Given the description of an element on the screen output the (x, y) to click on. 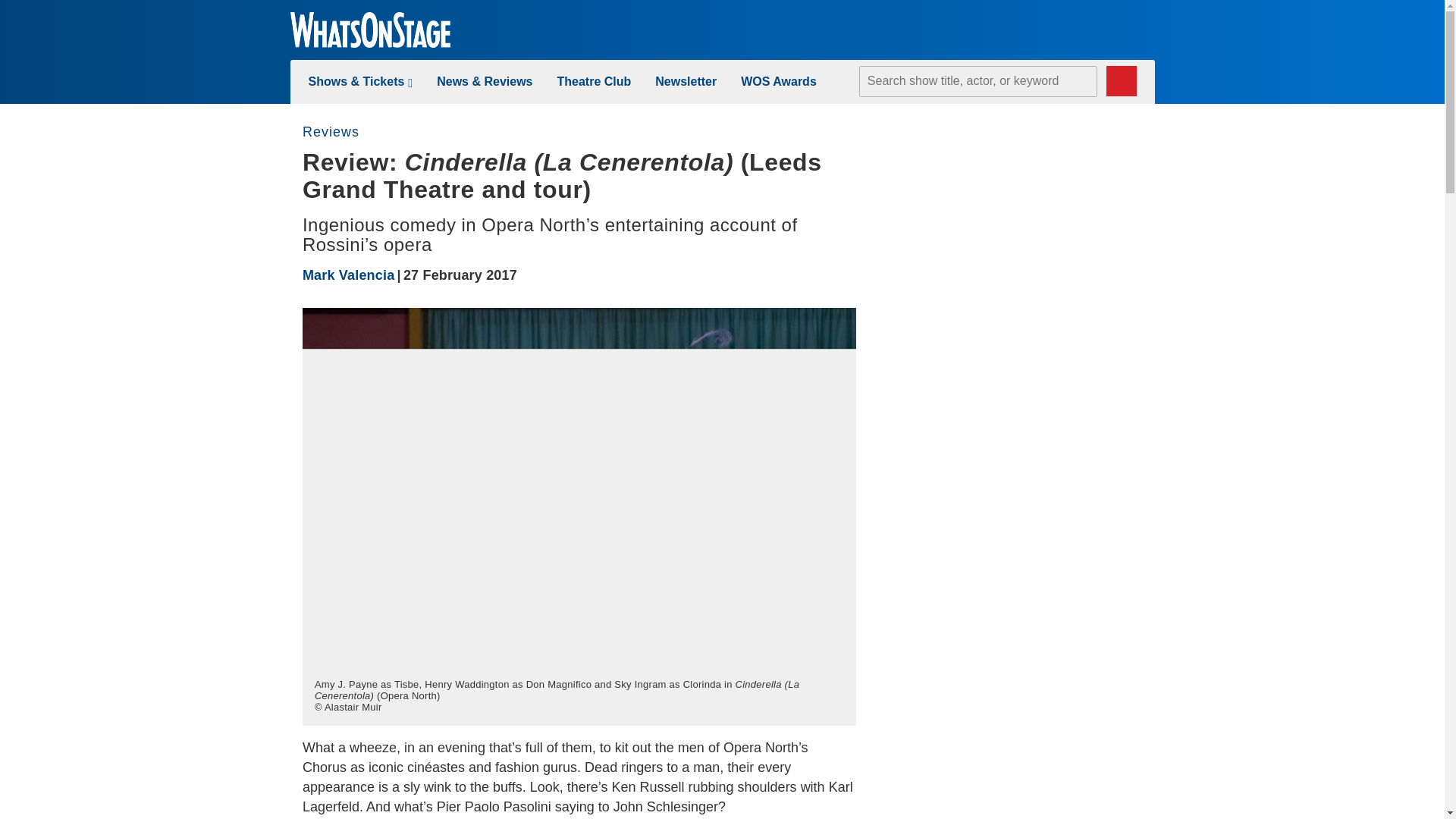
Newsletter (685, 81)
Theatre Club (593, 81)
new-and-reviews-link (484, 81)
WOS Awards (778, 81)
